Given the description of an element on the screen output the (x, y) to click on. 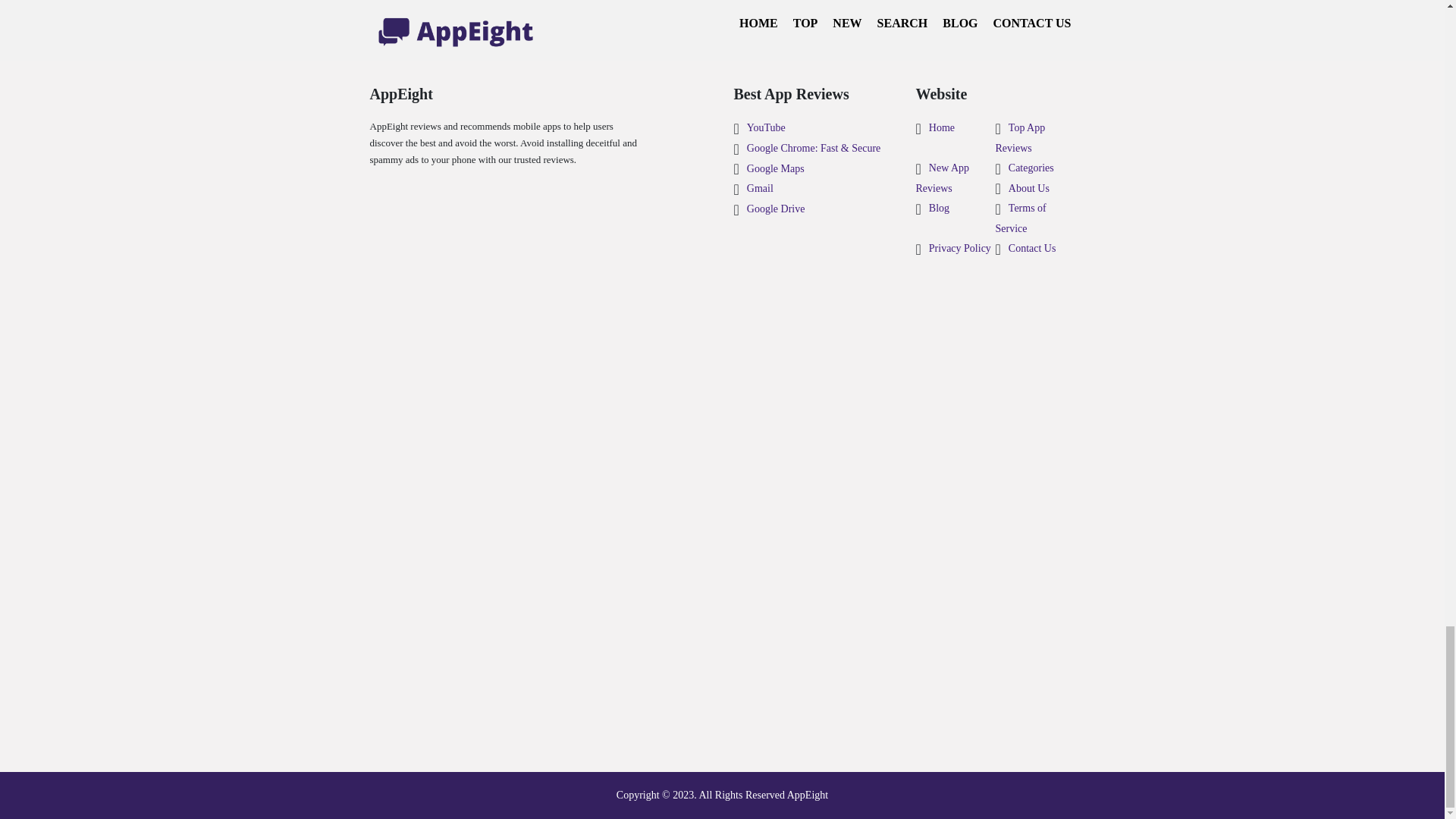
Advertisement (722, 396)
Advertisement (721, 23)
